Given the description of an element on the screen output the (x, y) to click on. 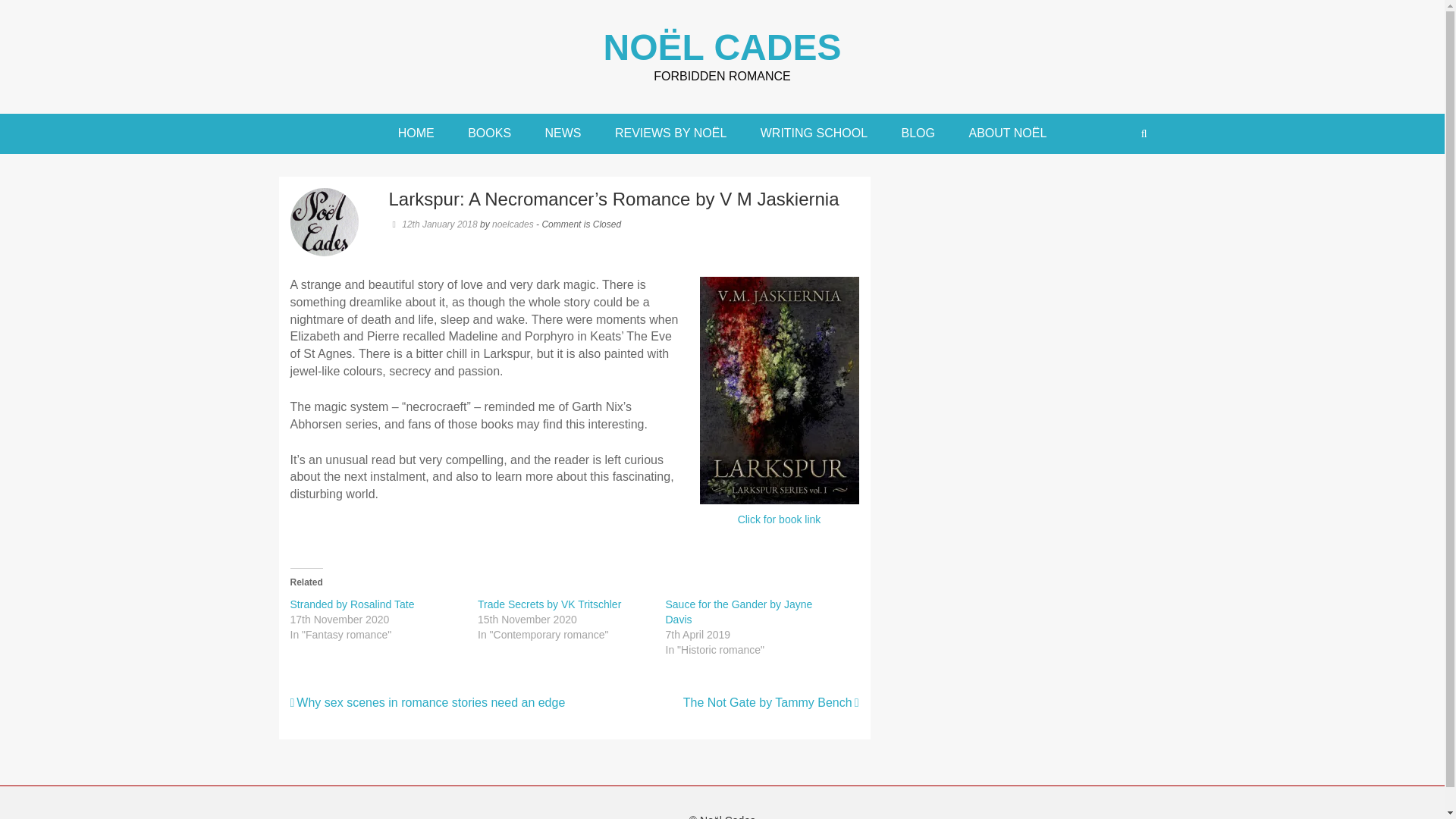
BLOG (918, 133)
12th January 2018 (432, 224)
Trade Secrets by VK Tritschler (549, 604)
WRITING SCHOOL (813, 133)
NEWS (562, 133)
Stranded by Rosalind Tate (351, 604)
The Not Gate by Tammy Bench (770, 702)
HOME (415, 133)
noelcades (513, 224)
BOOKS (488, 133)
